Given the description of an element on the screen output the (x, y) to click on. 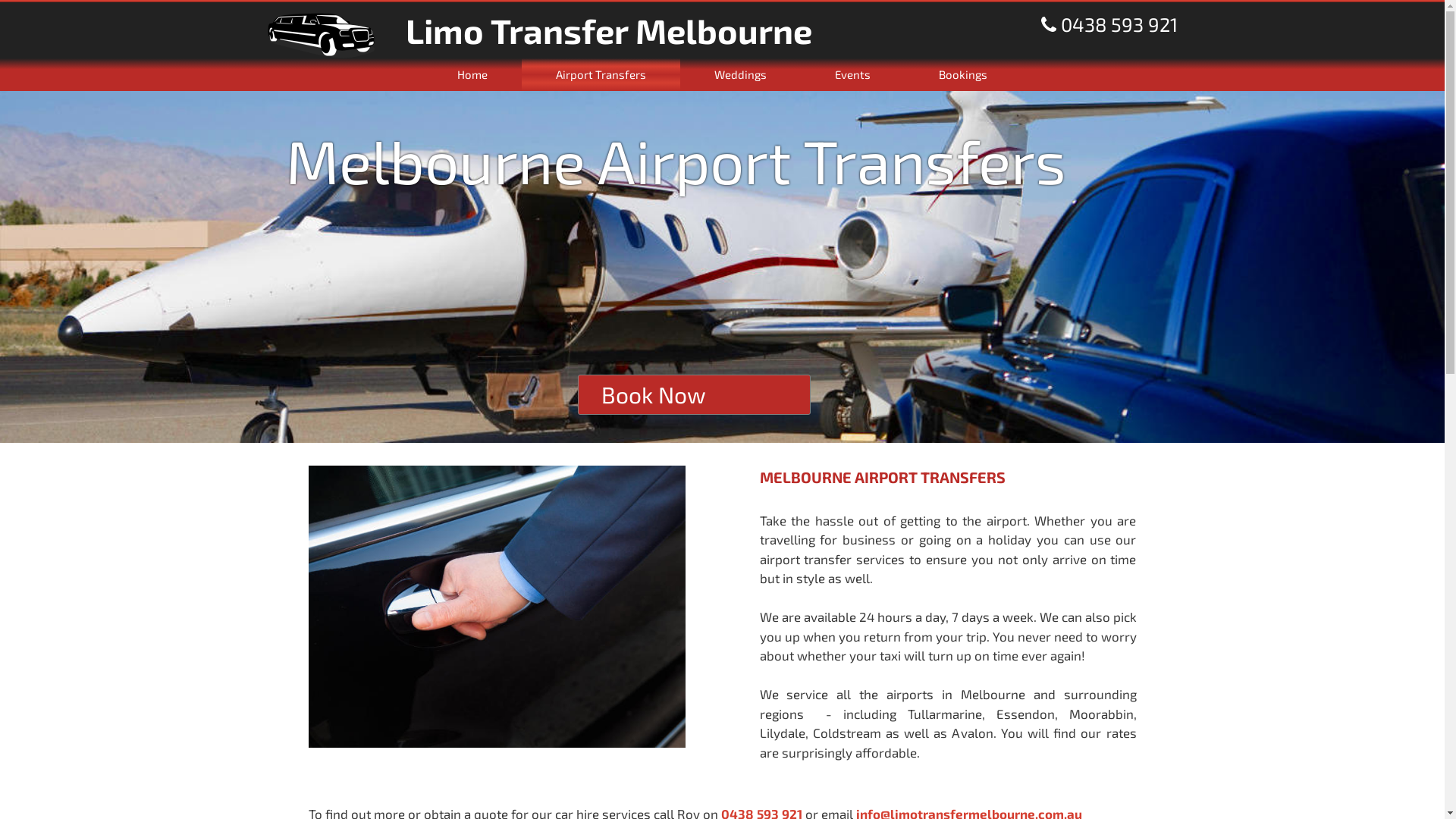
Book Now Element type: text (653, 393)
Limo Transfer Melbourne Element type: hover (335, 35)
0438 593 921 Element type: text (1108, 23)
Bookings Element type: text (962, 74)
Airport Transfers Element type: text (600, 74)
Limo Transfer Melbourne Element type: text (539, 29)
Next item in carousel (1 of 1) Element type: hover (1431, 266)
Chauffeur's hand opening passenger door
on a black limousine Element type: hover (495, 606)
Events Element type: text (852, 74)
Home Element type: text (472, 74)
Previous item in carousel (1 of 1) Element type: hover (12, 266)
Weddings Element type: text (740, 74)
